Given the description of an element on the screen output the (x, y) to click on. 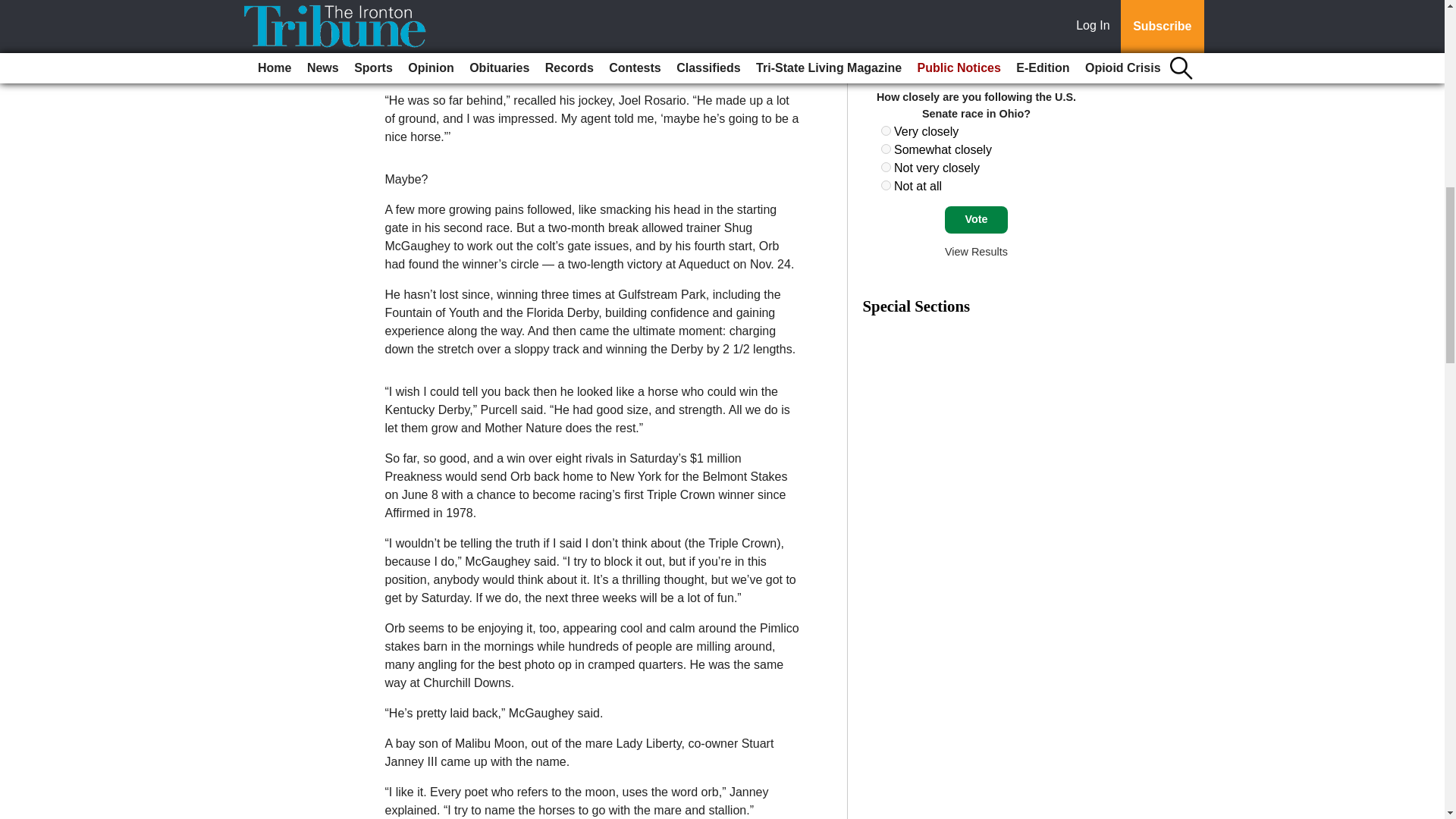
1435 (885, 185)
View Results Of This Poll (975, 251)
1432 (885, 130)
1434 (885, 166)
1433 (885, 148)
   Vote    (975, 219)
View Results (975, 251)
